Given the description of an element on the screen output the (x, y) to click on. 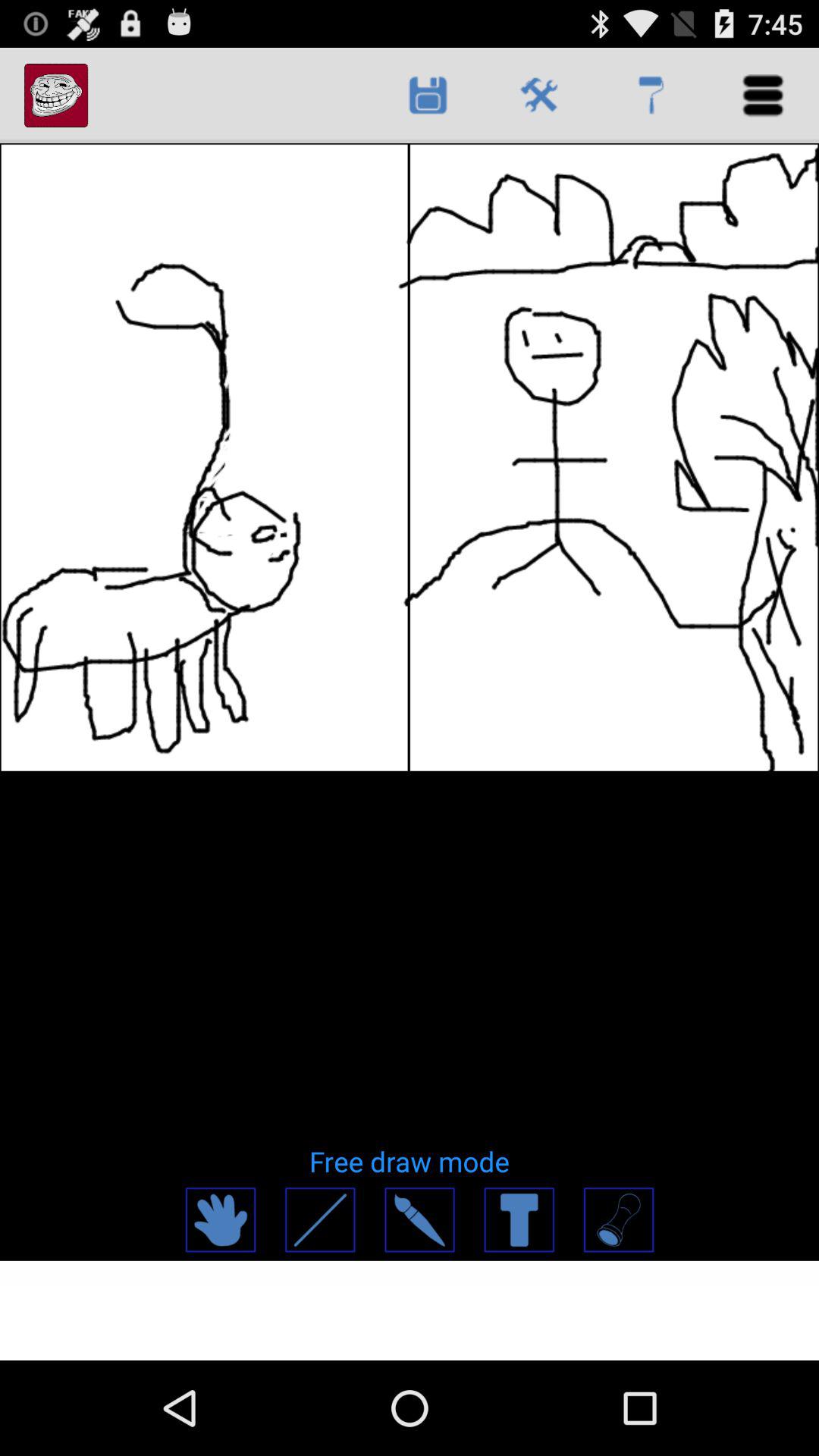
open the free draw mode item (409, 1161)
